Given the description of an element on the screen output the (x, y) to click on. 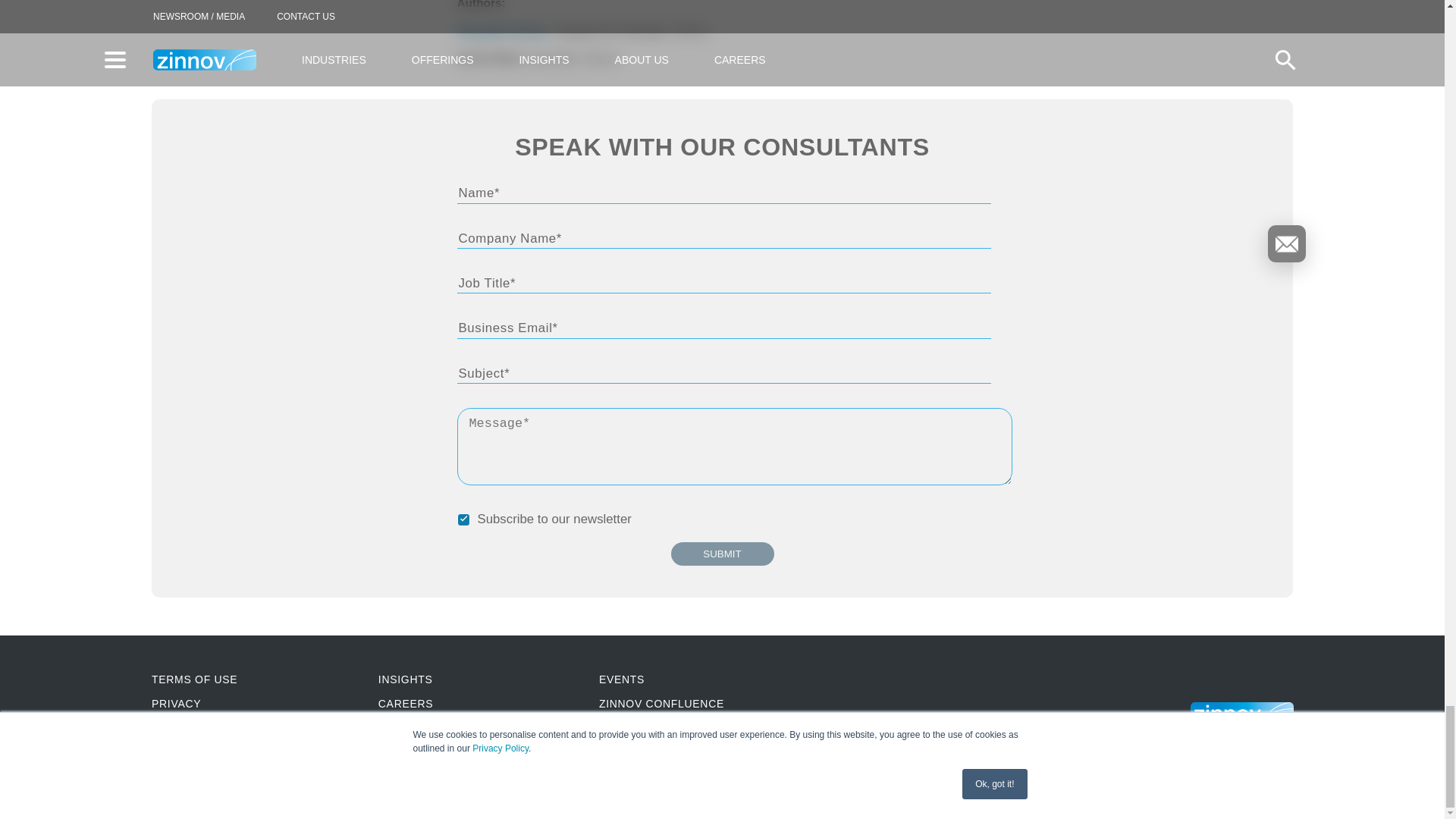
on (462, 519)
